Given the description of an element on the screen output the (x, y) to click on. 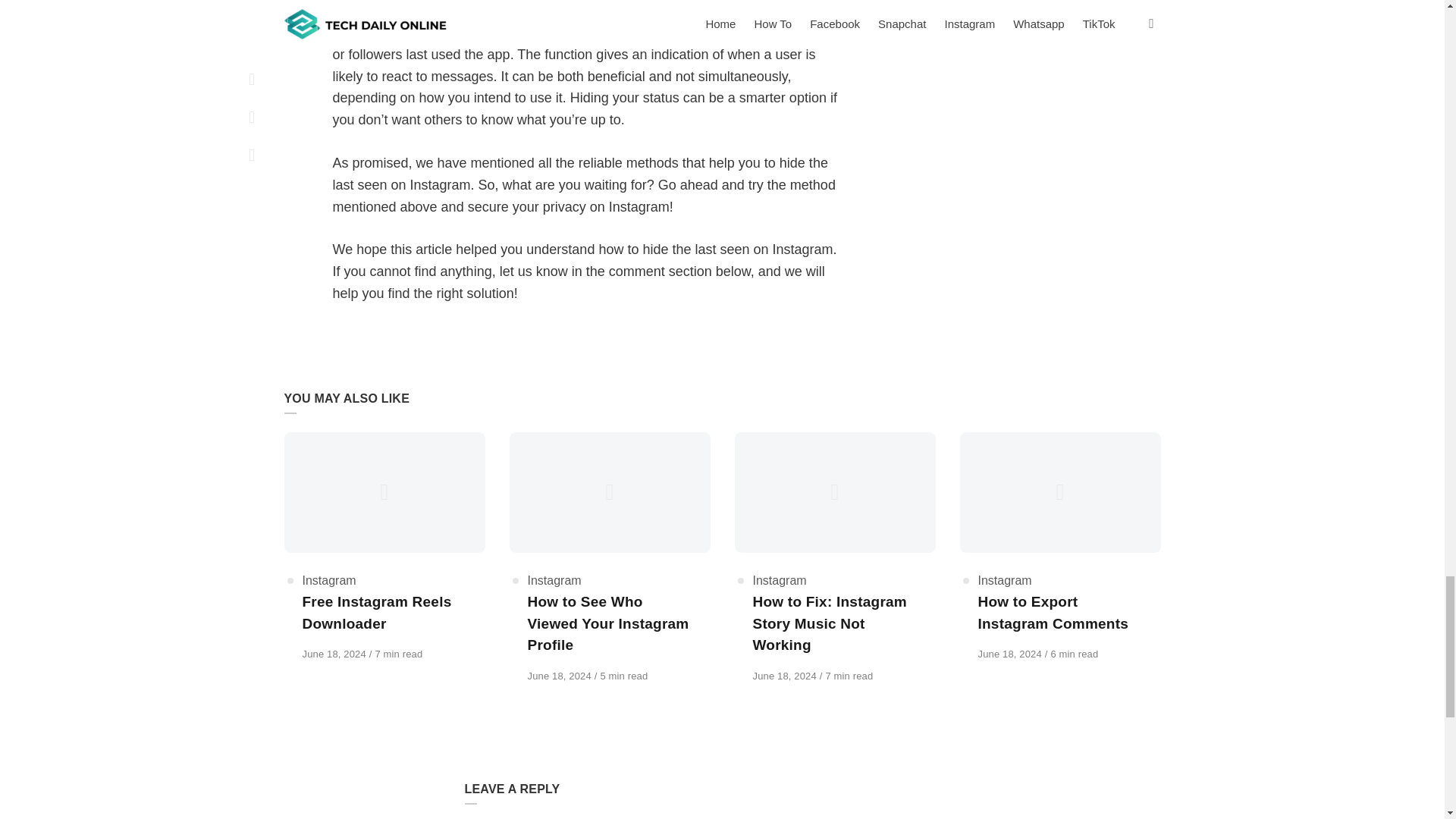
June 18, 2024 (560, 675)
June 18, 2024 (785, 675)
Instagram (553, 580)
June 18, 2024 (785, 675)
June 18, 2024 (560, 675)
June 18, 2024 (334, 654)
Instagram (779, 580)
June 18, 2024 (334, 654)
Instagram (328, 580)
June 18, 2024 (1011, 654)
